Given the description of an element on the screen output the (x, y) to click on. 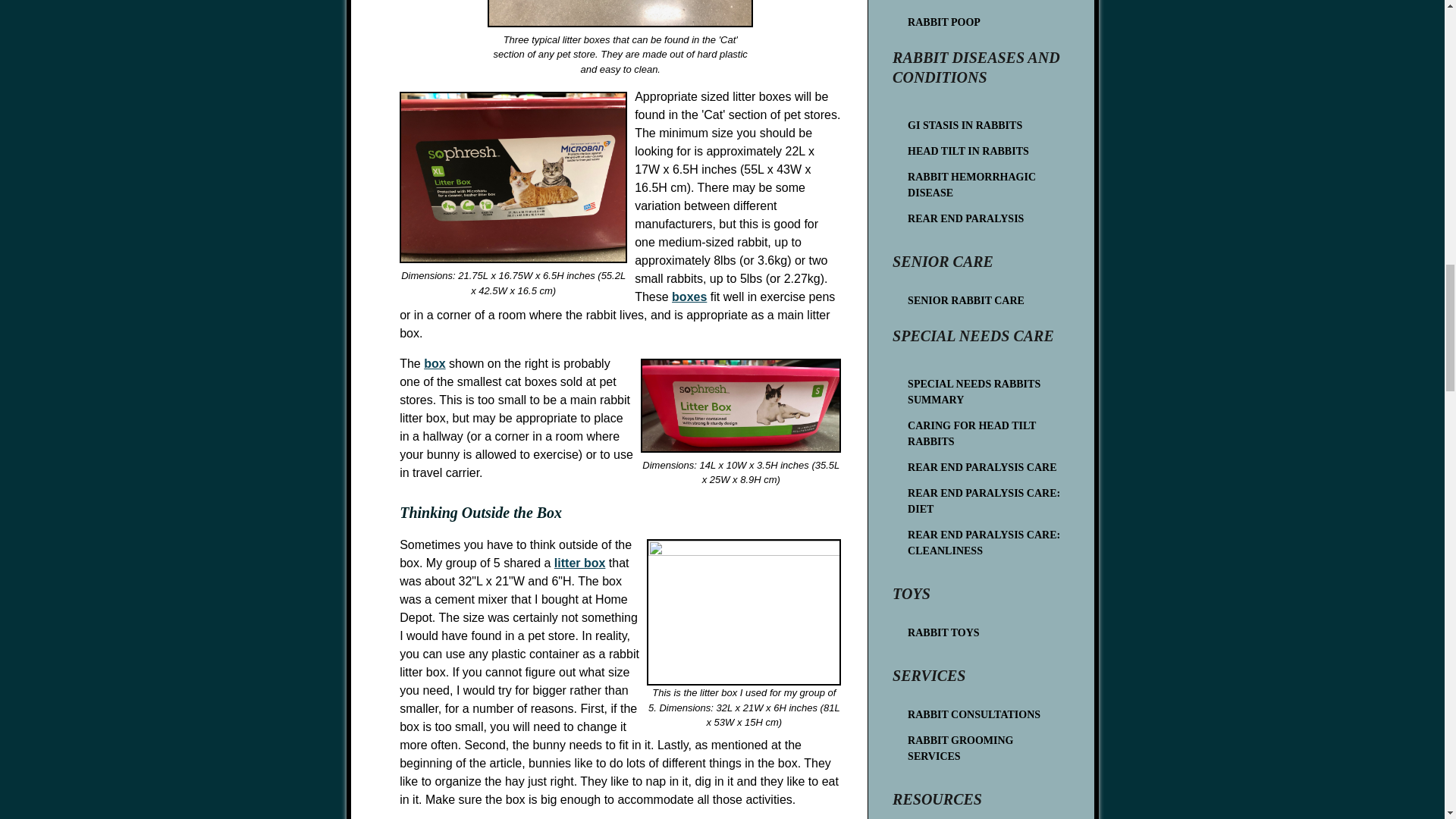
boxes (688, 296)
box (434, 363)
litter box (579, 562)
